Given the description of an element on the screen output the (x, y) to click on. 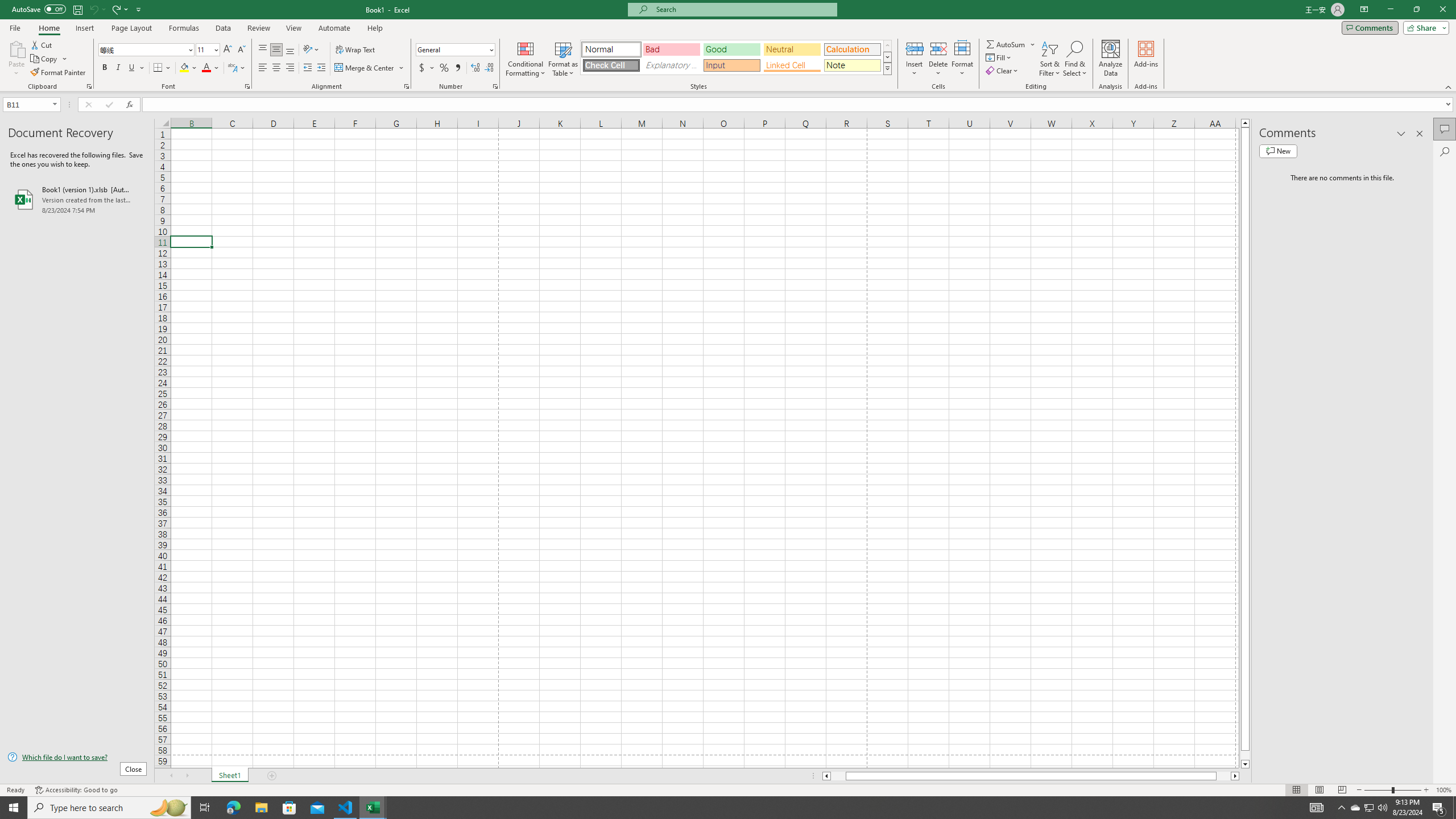
Cell Styles (887, 68)
Which file do I want to save? (77, 757)
Fill (999, 56)
Copy (45, 58)
